Given the description of an element on the screen output the (x, y) to click on. 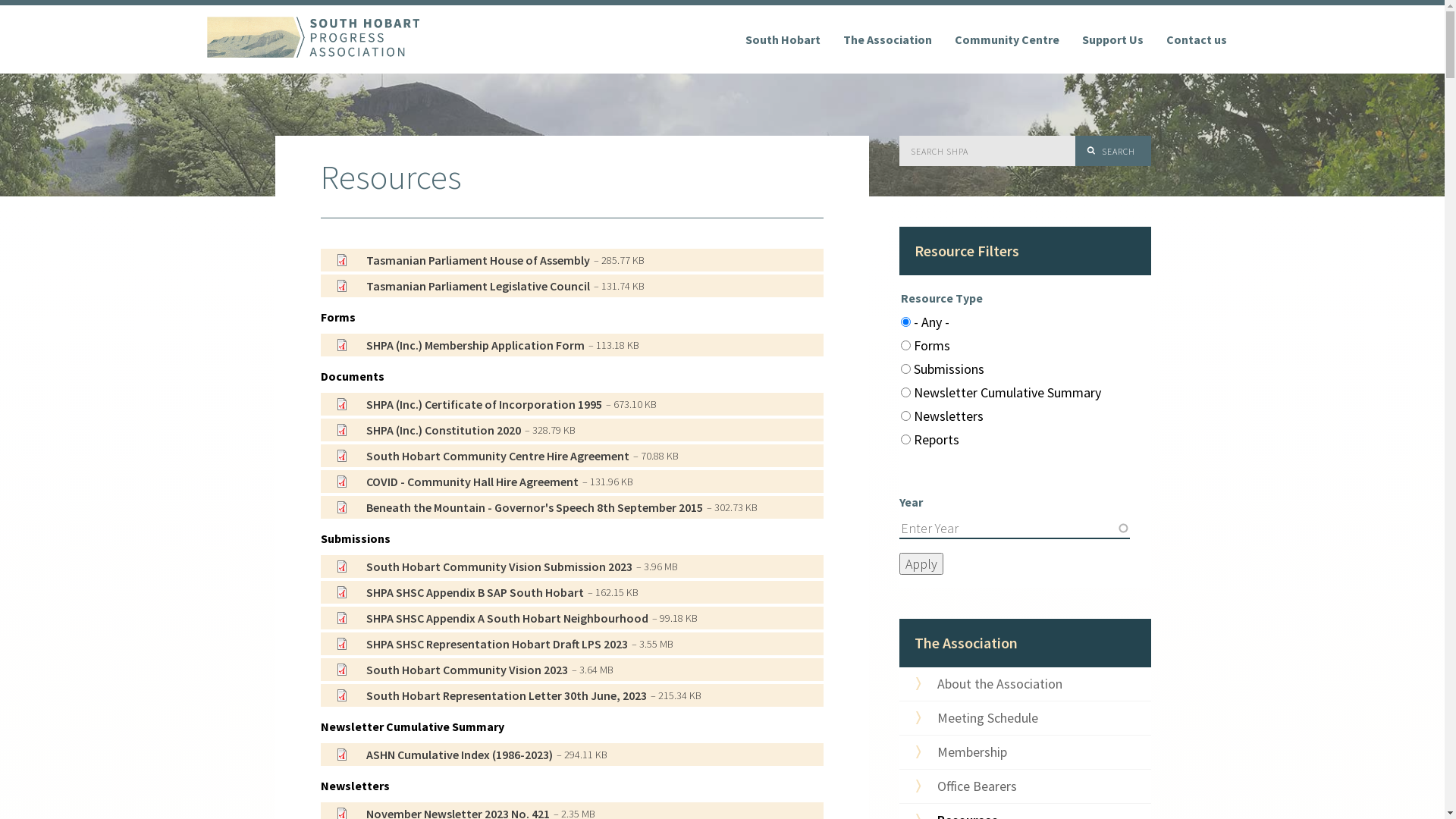
Apply Element type: text (921, 563)
Submissions Element type: text (354, 538)
Newsletter Cumulative Summary Element type: text (411, 726)
About the Association Element type: text (1025, 683)
Community Centre Element type: text (1006, 39)
Newsletters Element type: text (354, 785)
Forms Element type: text (337, 316)
Office Bearers Element type: text (1025, 786)
Support Us Element type: text (1112, 39)
Enter the terms you wish to search for. Element type: hover (987, 150)
South Hobart Element type: text (782, 39)
Membership Element type: text (1025, 751)
Search Element type: text (1113, 150)
Contact us Element type: text (1195, 39)
Meeting Schedule Element type: text (1025, 717)
The Association Element type: text (886, 39)
Skip to main content Element type: text (0, 0)
The Association Element type: text (965, 642)
Documents Element type: text (351, 375)
